Given the description of an element on the screen output the (x, y) to click on. 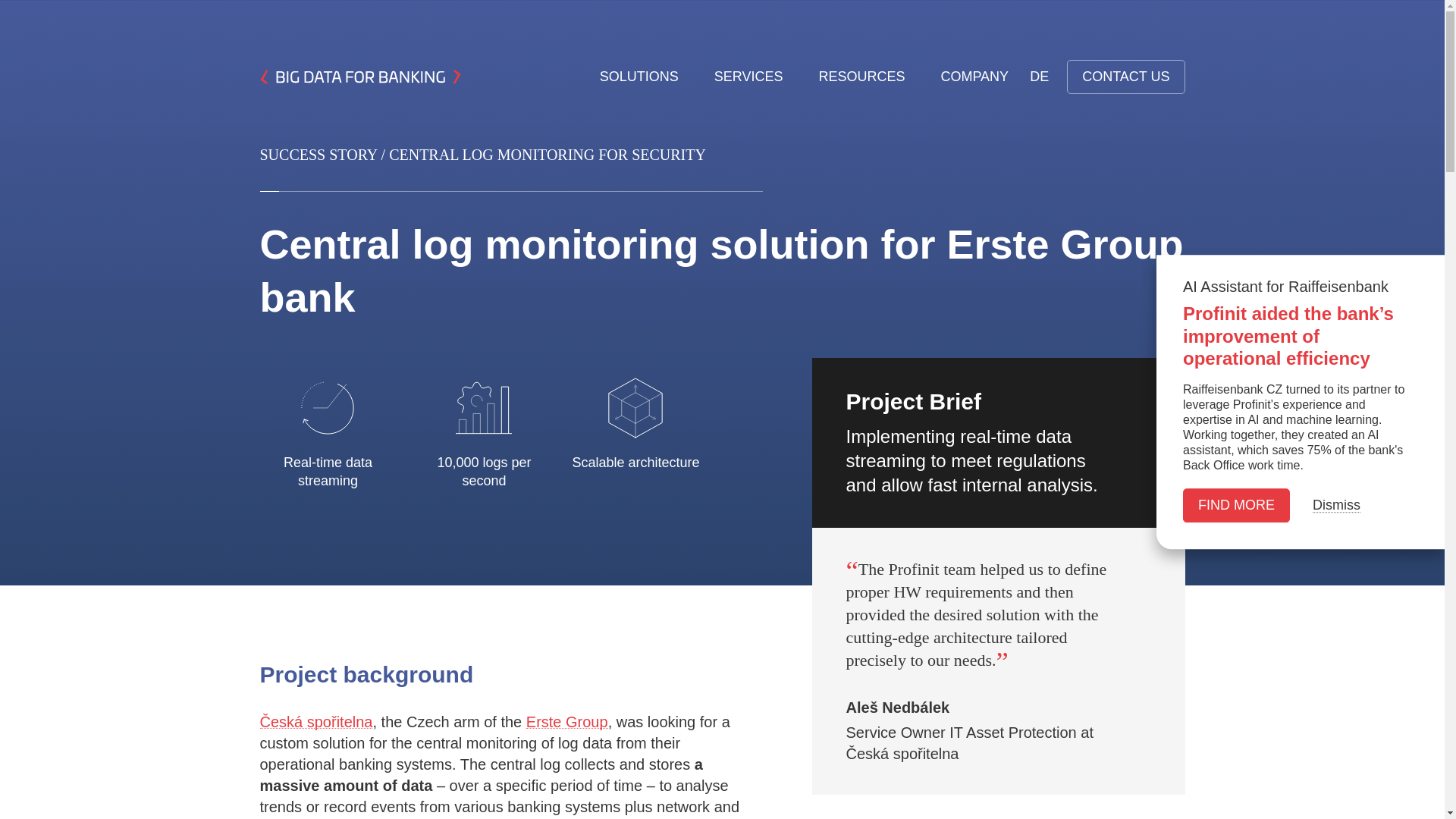
DE (1039, 76)
Erste Group (566, 721)
FIND MORE (1236, 505)
SERVICES (755, 76)
SUCCESS STORY (318, 154)
Dismiss (1336, 505)
SOLUTIONS (646, 76)
CONTACT US (1126, 76)
COMPANY (974, 76)
RESOURCES (868, 76)
Success story (318, 154)
